Given the description of an element on the screen output the (x, y) to click on. 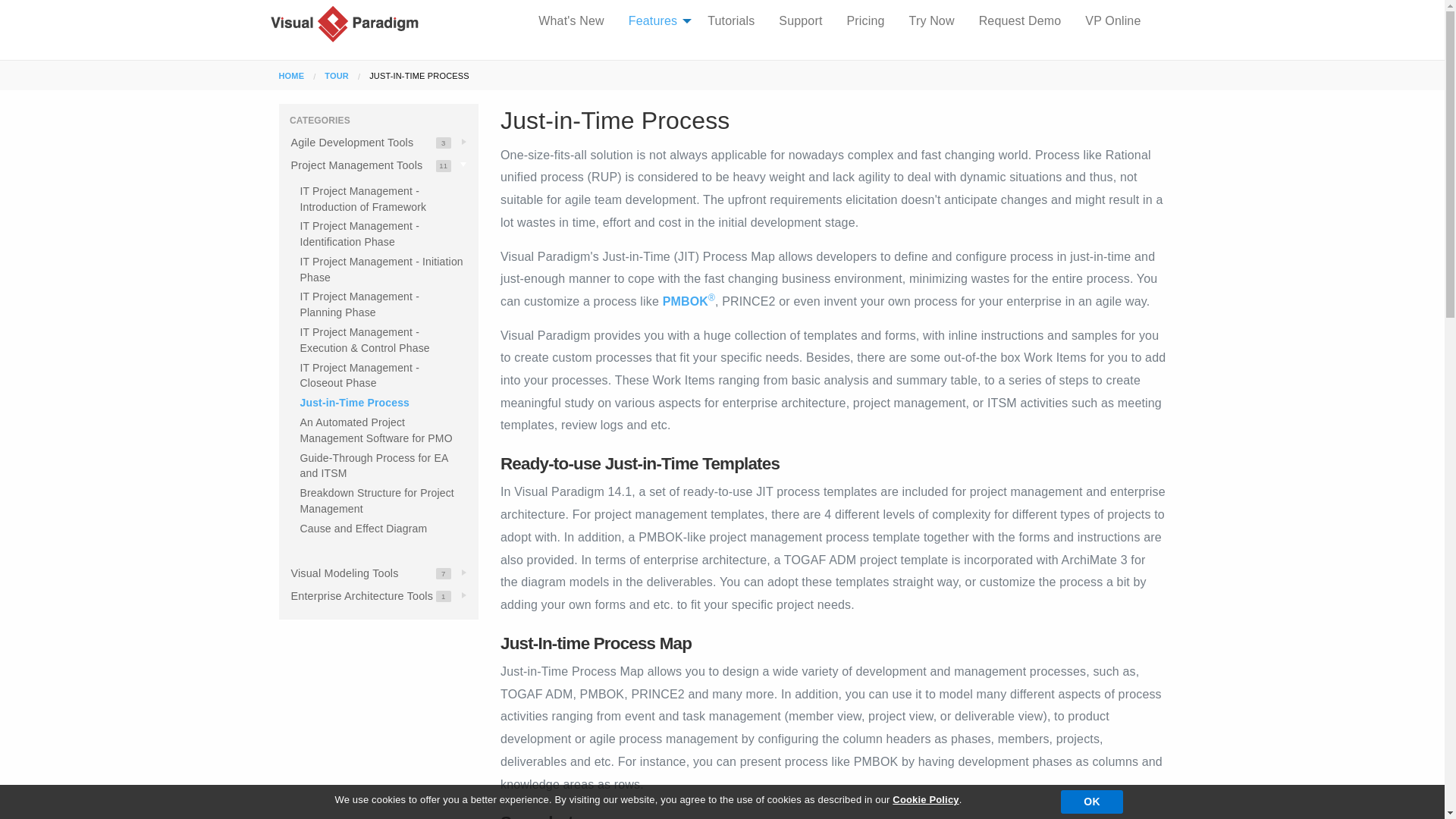
An Automated Project Management Software for PMO (375, 430)
IT Project Management - Initiation Phase (381, 269)
VP Online (379, 572)
TOUR (1113, 21)
What's New (336, 75)
Just-in-Time Process (570, 21)
Tutorials (354, 402)
Features (379, 164)
